Given the description of an element on the screen output the (x, y) to click on. 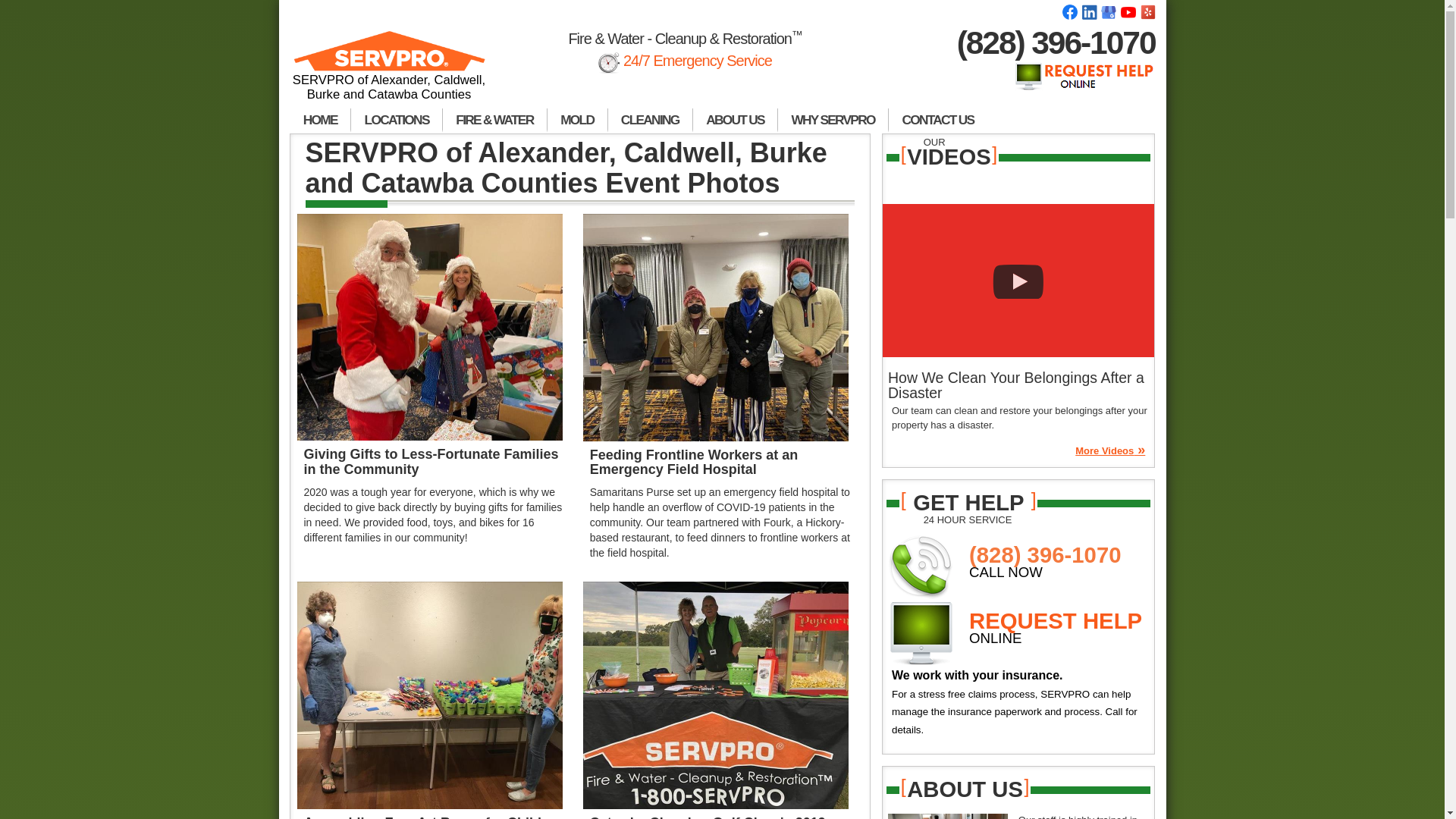
SERVPRO of Alexander, Caldwell, Burke and Catawba Counties (389, 72)
HOME (319, 120)
CLEANING (650, 120)
MOLD (577, 120)
LOCATIONS (396, 120)
